Given the description of an element on the screen output the (x, y) to click on. 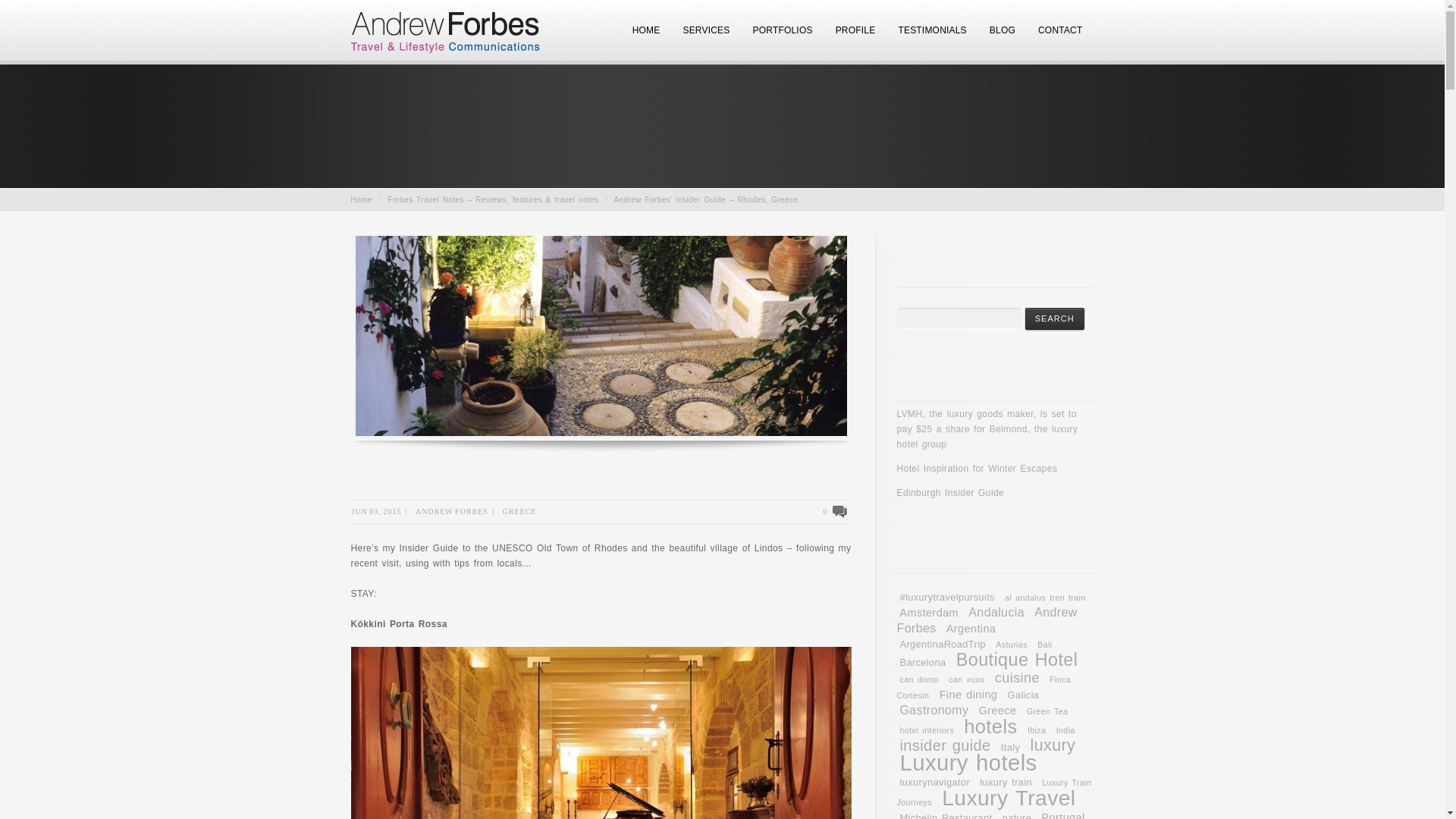
Search (1054, 318)
Home (360, 199)
JUN 03, 2015 (376, 510)
PORTFOLIOS (782, 37)
SERVICES (705, 37)
GREECE (518, 510)
Wednesday, June 3rd, 2015, 7:25 pm (376, 510)
CONTACT (1059, 37)
TESTIMONIALS (931, 37)
ANDREW FORBES (450, 510)
PROFILE (855, 37)
HOME (645, 37)
